Given the description of an element on the screen output the (x, y) to click on. 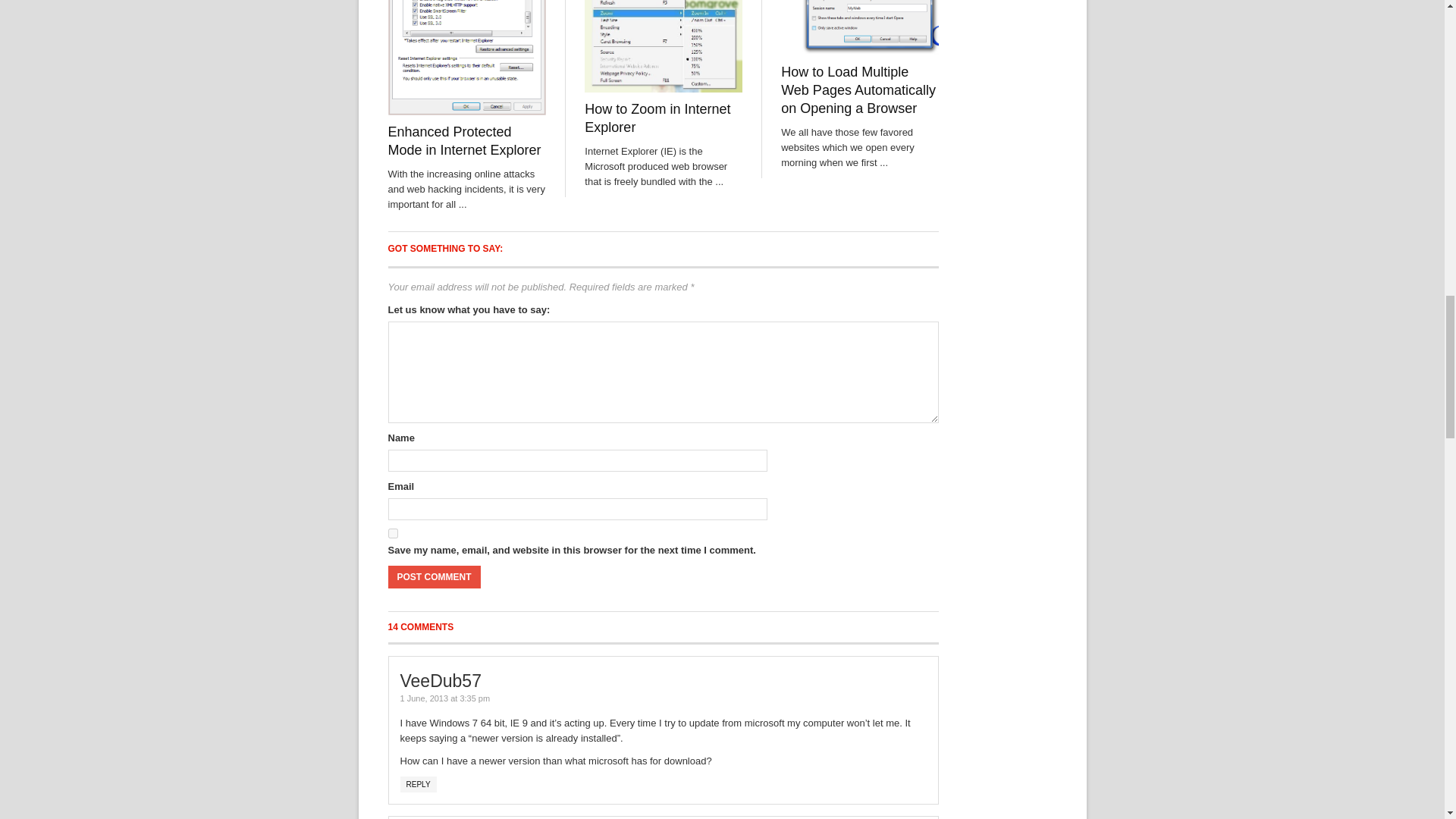
REPLY (418, 784)
Post Comment (434, 576)
Post Comment (434, 576)
How to Zoom in Internet Explorer (657, 118)
yes (392, 533)
Enhanced Protected Mode in Internet Explorer (464, 141)
